Given the description of an element on the screen output the (x, y) to click on. 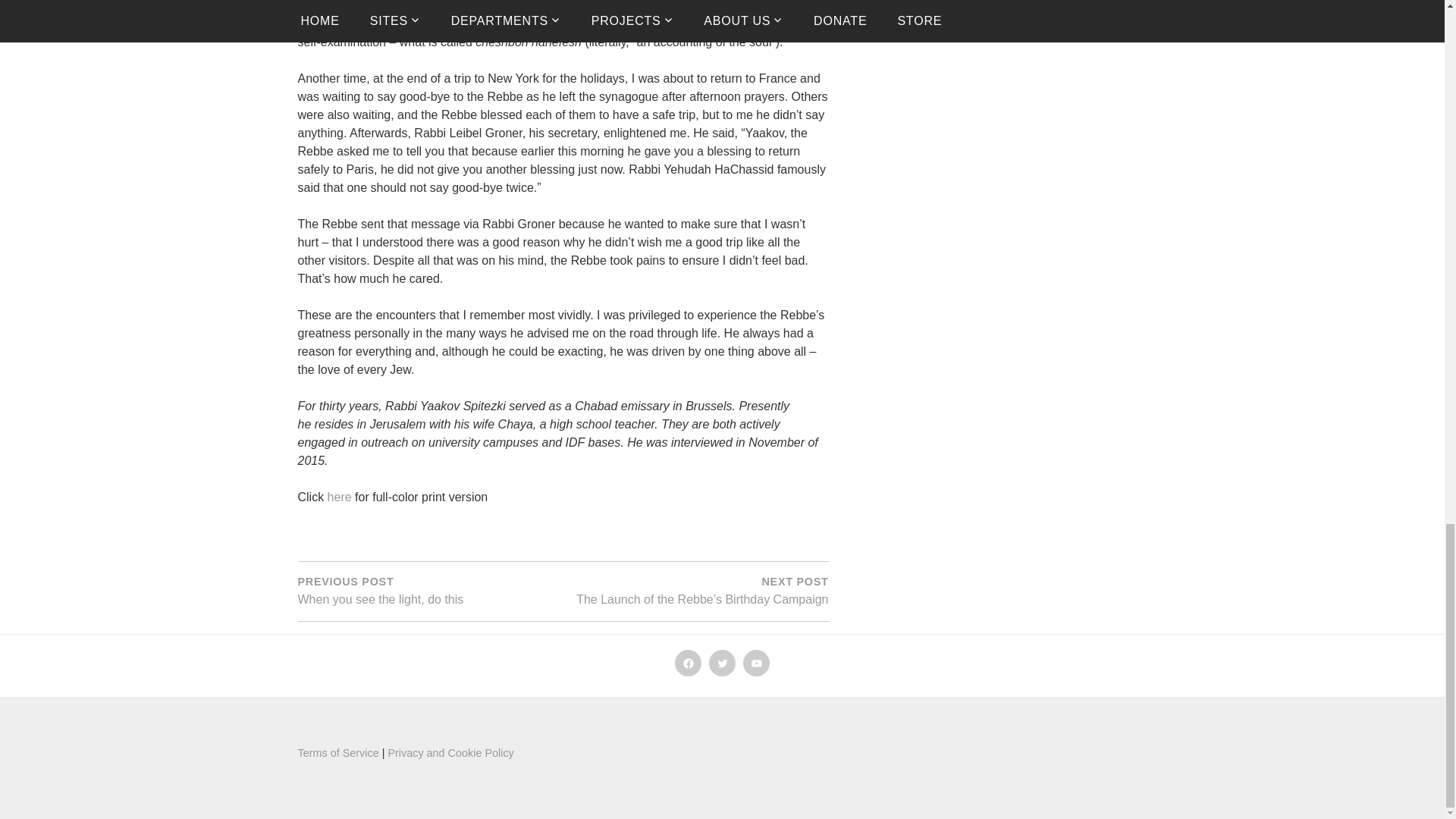
here (339, 497)
